Given the description of an element on the screen output the (x, y) to click on. 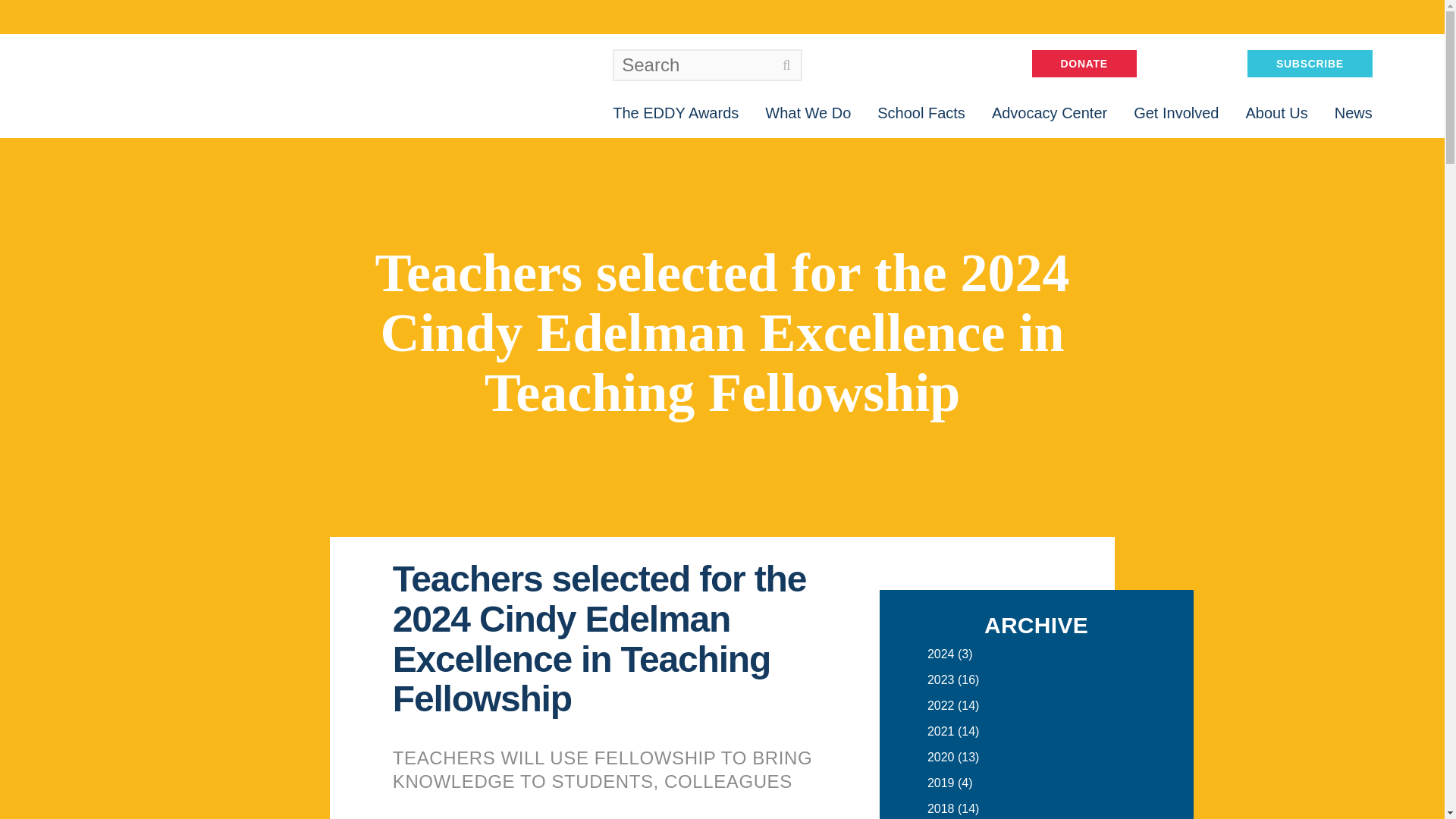
The EDDY Awards (675, 112)
What We Do (807, 112)
About Us (1275, 112)
Get Involved (1176, 112)
Advocacy Center (1048, 112)
Jacksonville Public Education Fund (186, 85)
School Facts (921, 112)
